Given the description of an element on the screen output the (x, y) to click on. 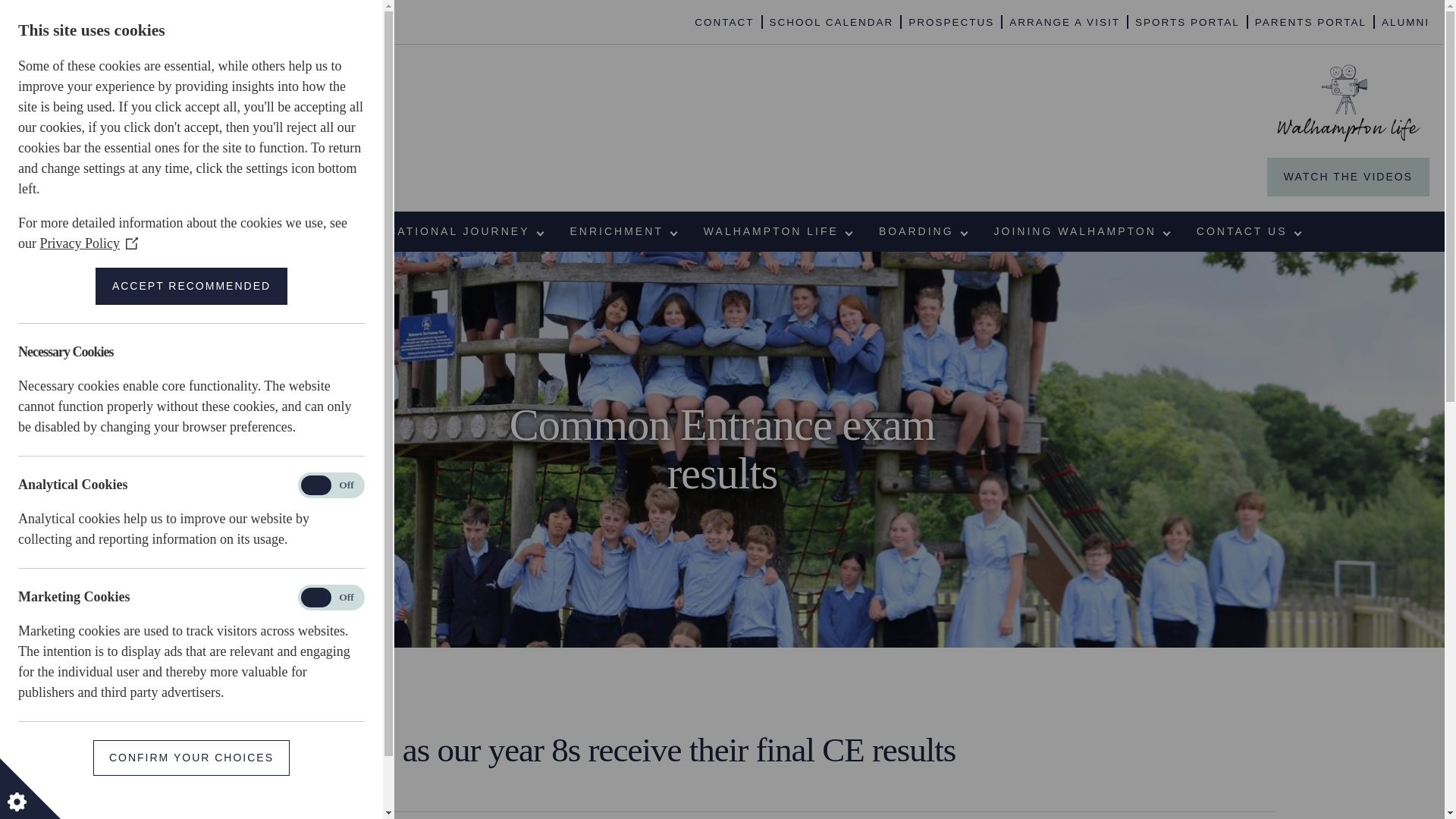
Instagram (79, 21)
Parents Portal (1311, 22)
Arrange A Visit (1064, 22)
YouTube (139, 21)
ABOUT US (254, 230)
Linkedin (109, 21)
Facebook (22, 21)
Facebook (22, 21)
Sports Portal (1187, 22)
School Calendar (831, 22)
HOME (164, 230)
WATCH THE VIDEOS (1347, 177)
Instagram (79, 21)
SCHOOL CALENDAR (831, 22)
Contact (724, 22)
